Given the description of an element on the screen output the (x, y) to click on. 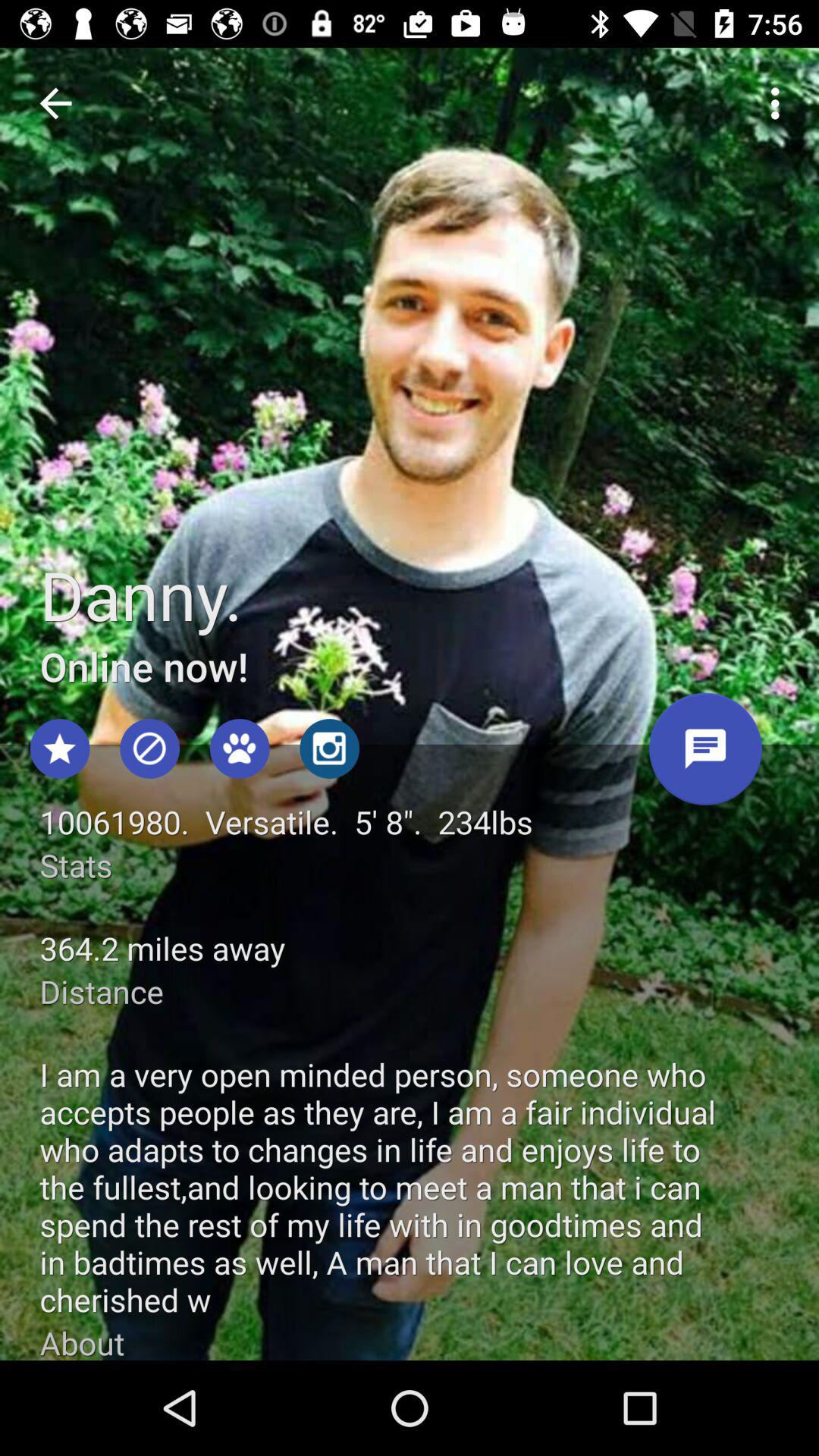
send message (705, 754)
